Given the description of an element on the screen output the (x, y) to click on. 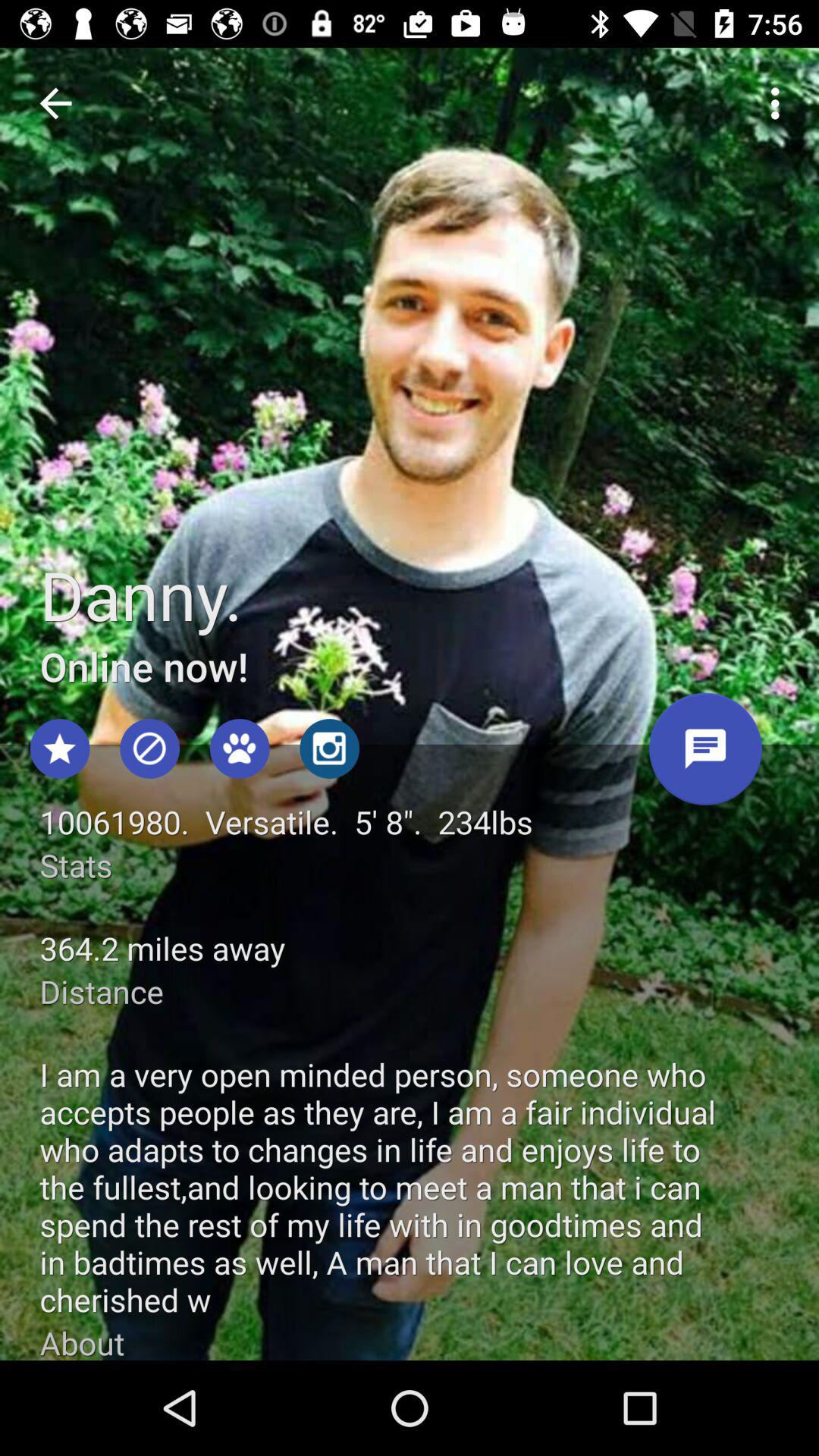
send message (705, 754)
